Given the description of an element on the screen output the (x, y) to click on. 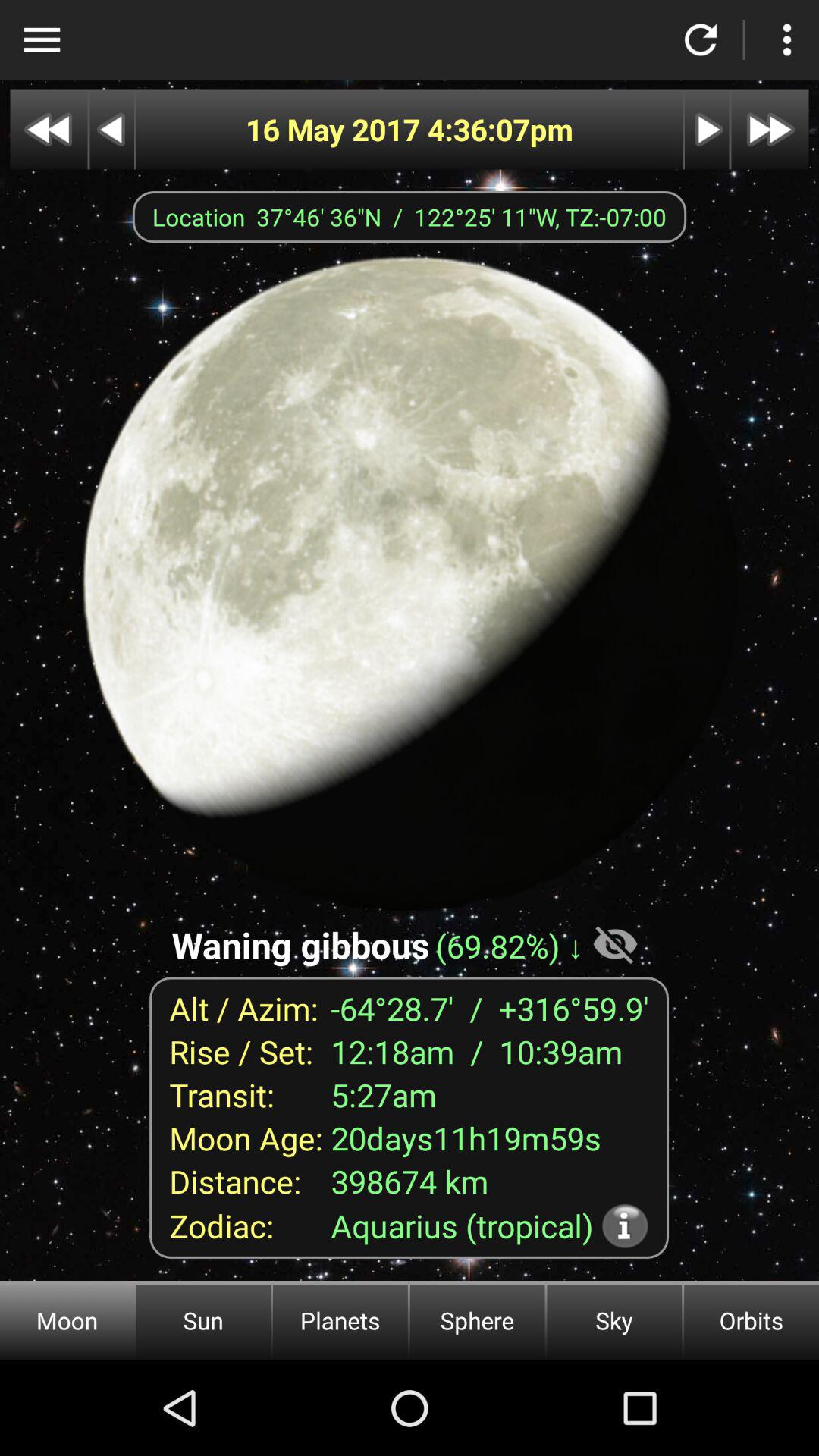
show information (624, 1225)
